Given the description of an element on the screen output the (x, y) to click on. 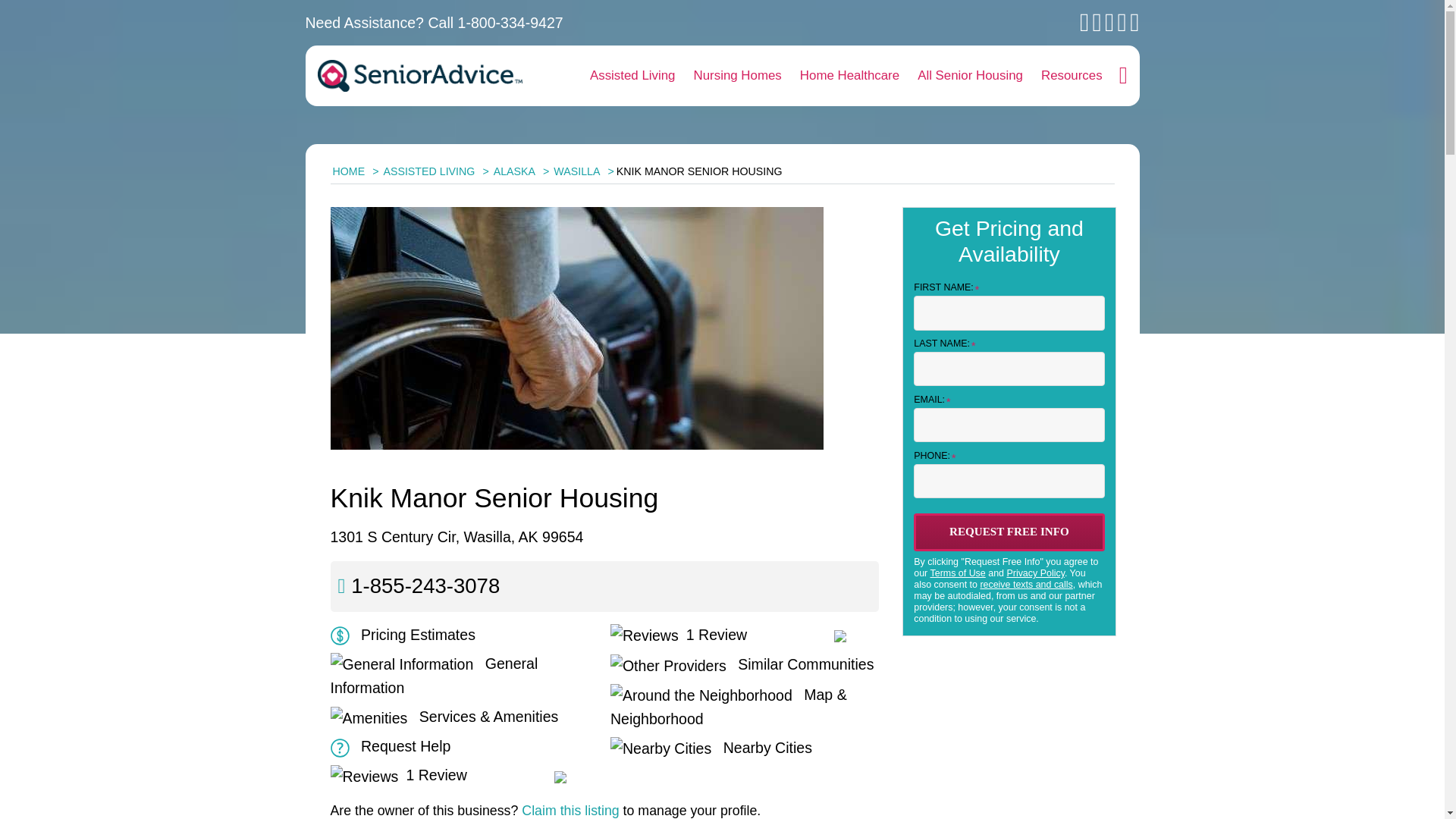
Cost Estimates for Knik Manor Senior Housing in Wasilla, AK (403, 634)
About Knik Manor Senior Housing in Wasilla, AK (434, 675)
1-800-334-9427 (510, 22)
Home Healthcare (849, 75)
Reviews of Knik Manor Senior Housing in Wasilla, AK (678, 634)
Cities Around Wasilla, AK (711, 747)
Reviews of Knik Manor Senior Housing in Wasilla, AK (398, 774)
Map of Knik Manor Senior Housing in Wasilla, AK (728, 706)
Request Free Info (1008, 531)
Nursing Homes (737, 75)
Request Help (390, 745)
Resources (1072, 75)
Assisted Living (632, 75)
